Given the description of an element on the screen output the (x, y) to click on. 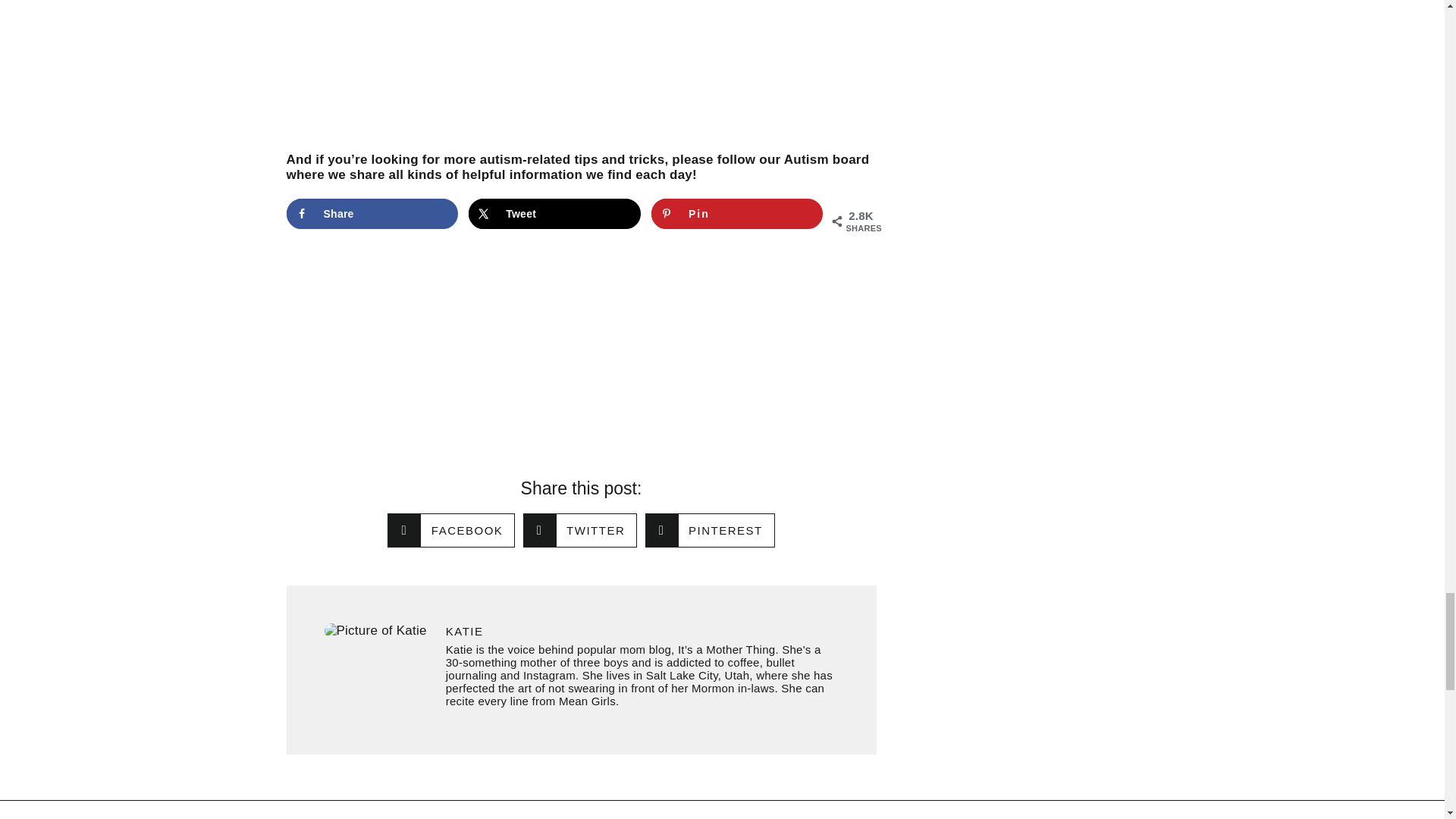
Share on Facebook (372, 214)
Save to Pinterest (737, 214)
Share on X (554, 214)
